Given the description of an element on the screen output the (x, y) to click on. 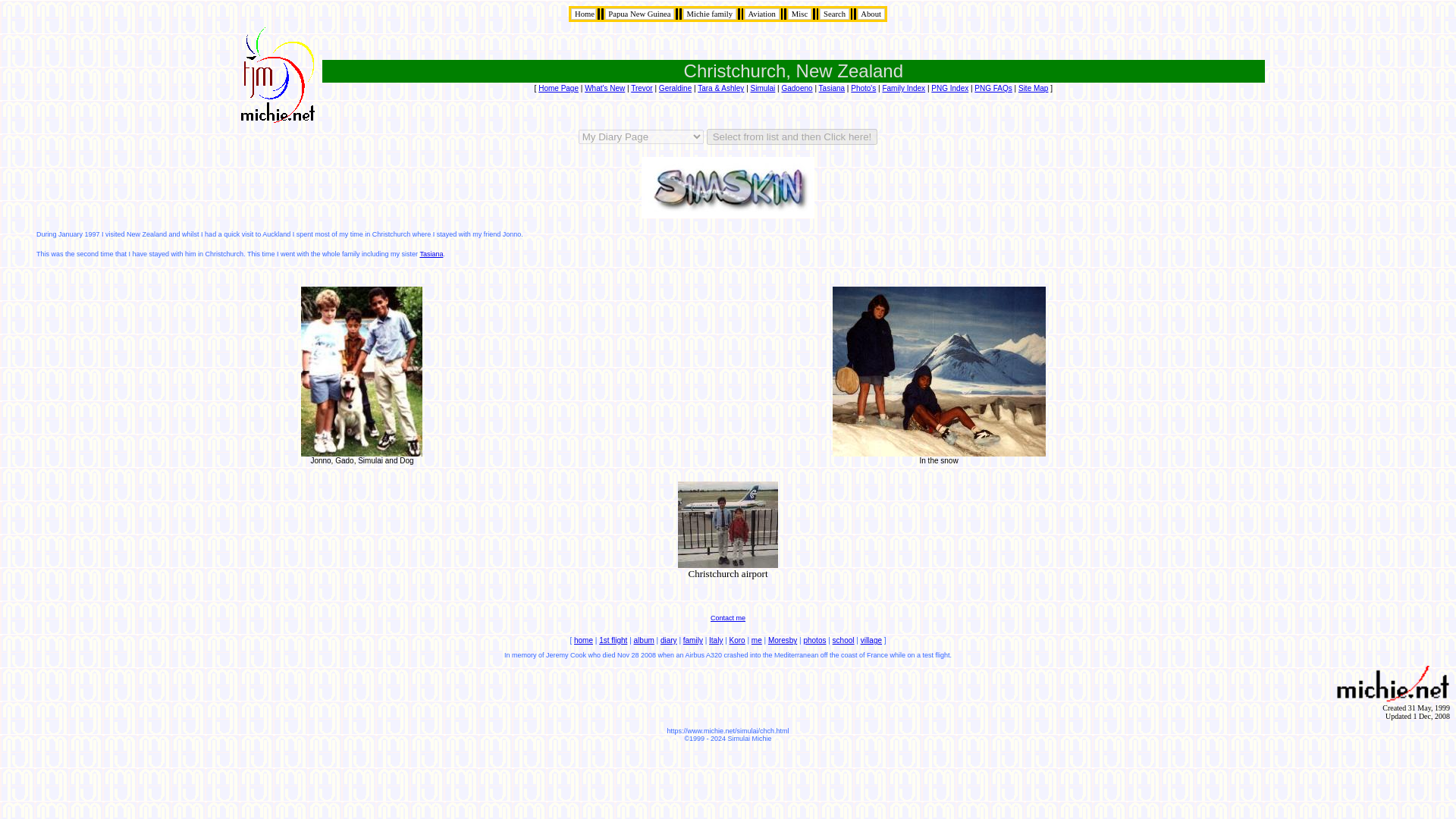
Tasiana (430, 253)
 About  (870, 13)
school (843, 640)
Simulai (763, 88)
Moresby (782, 640)
Trevor (641, 88)
me (756, 640)
Site Map (1032, 88)
 Search  (833, 13)
Return to home page (582, 13)
Geraldine (675, 88)
PNG Index (949, 88)
Gadoeno (796, 88)
Photo's (863, 88)
Home Page (558, 88)
